Given the description of an element on the screen output the (x, y) to click on. 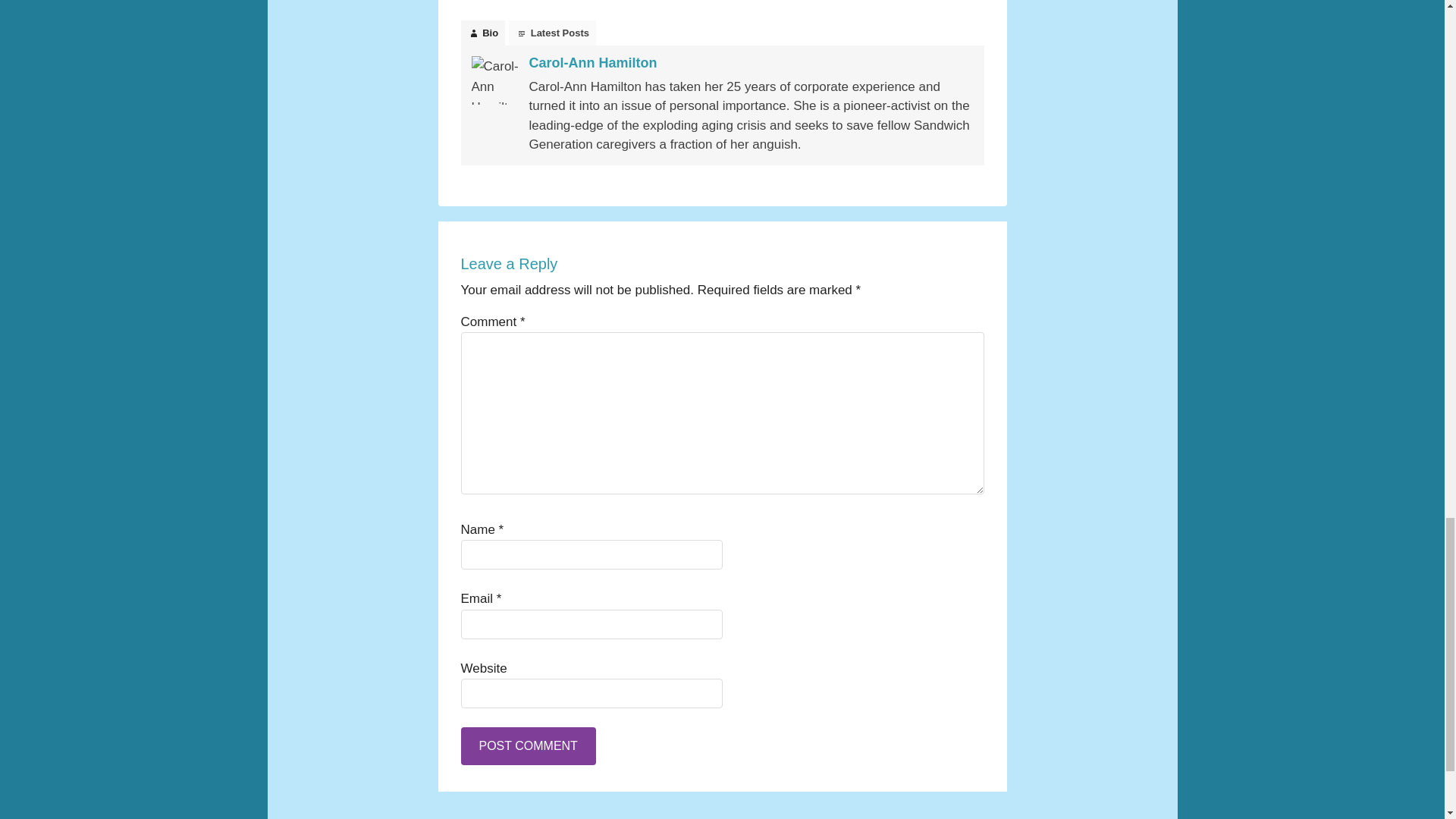
Post Comment (528, 745)
Bio (483, 32)
Latest Posts (551, 32)
Post Comment (528, 745)
